Given the description of an element on the screen output the (x, y) to click on. 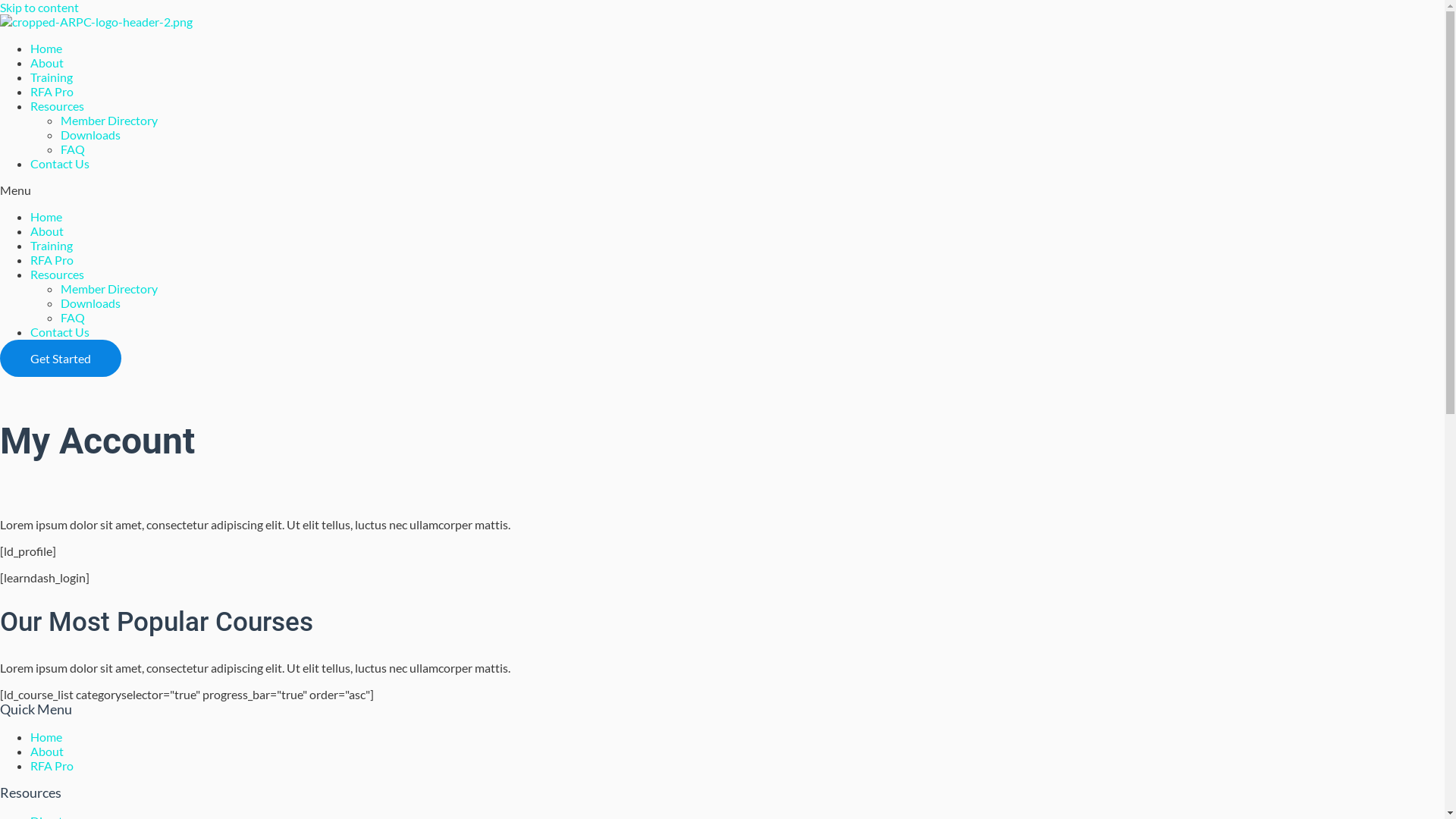
FAQ Element type: text (72, 148)
Get Started Element type: text (60, 357)
Contact Us Element type: text (59, 331)
Training Element type: text (51, 245)
About Element type: text (46, 230)
RFA Pro Element type: text (51, 259)
Resources Element type: text (57, 273)
Downloads Element type: text (90, 302)
Home Element type: text (46, 47)
Member Directory Element type: text (108, 119)
RFA Pro Element type: text (51, 91)
RFA Pro Element type: text (51, 765)
Member Directory Element type: text (108, 288)
Resources Element type: text (57, 105)
Downloads Element type: text (90, 134)
Home Element type: text (46, 736)
About Element type: text (46, 62)
Home Element type: text (46, 216)
Training Element type: text (51, 76)
FAQ Element type: text (72, 317)
cropped-ARPC-logo-header-2.png Element type: hover (96, 21)
About Element type: text (46, 750)
Skip to content Element type: text (39, 7)
Contact Us Element type: text (59, 163)
